Given the description of an element on the screen output the (x, y) to click on. 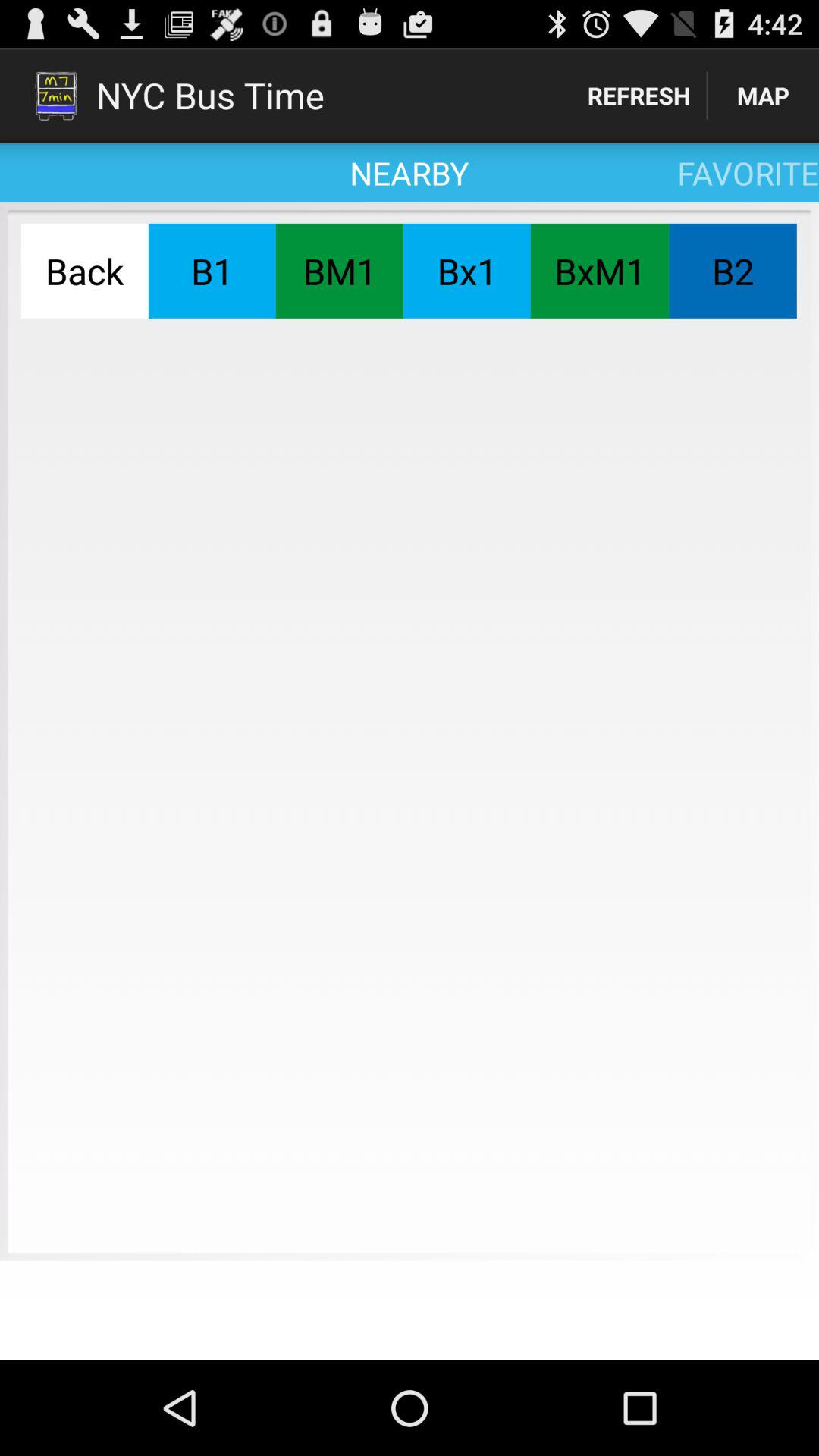
select bx1 icon (466, 271)
